Given the description of an element on the screen output the (x, y) to click on. 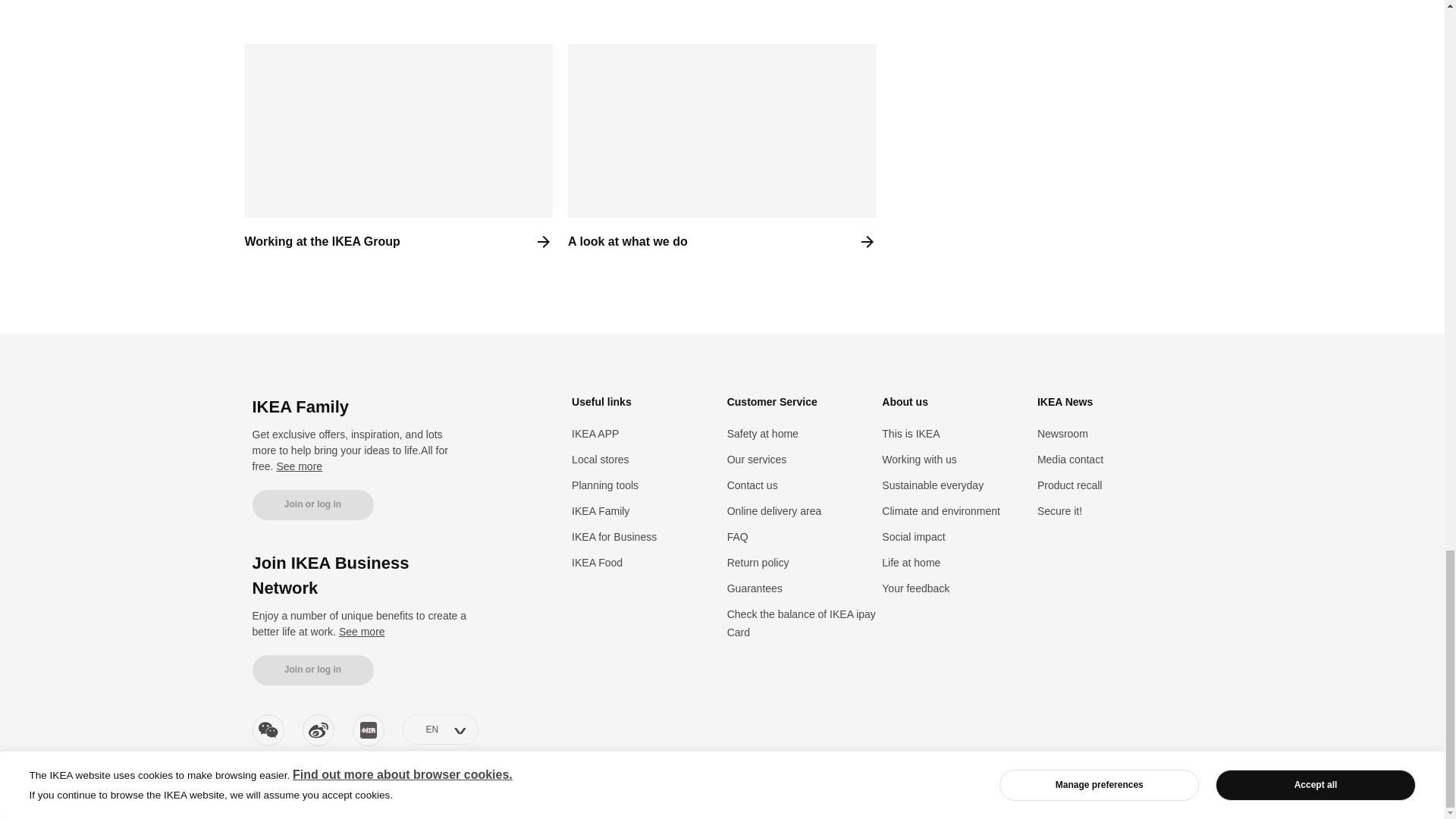
Online delivery area (774, 510)
IKEA APP (595, 433)
Climate and environment (941, 510)
See more (298, 466)
IKEA Family (600, 510)
Sustainable everyday (933, 485)
Join or log in (311, 670)
FAQ (737, 536)
Media contact (1069, 459)
A look at what we do (721, 154)
